Given the description of an element on the screen output the (x, y) to click on. 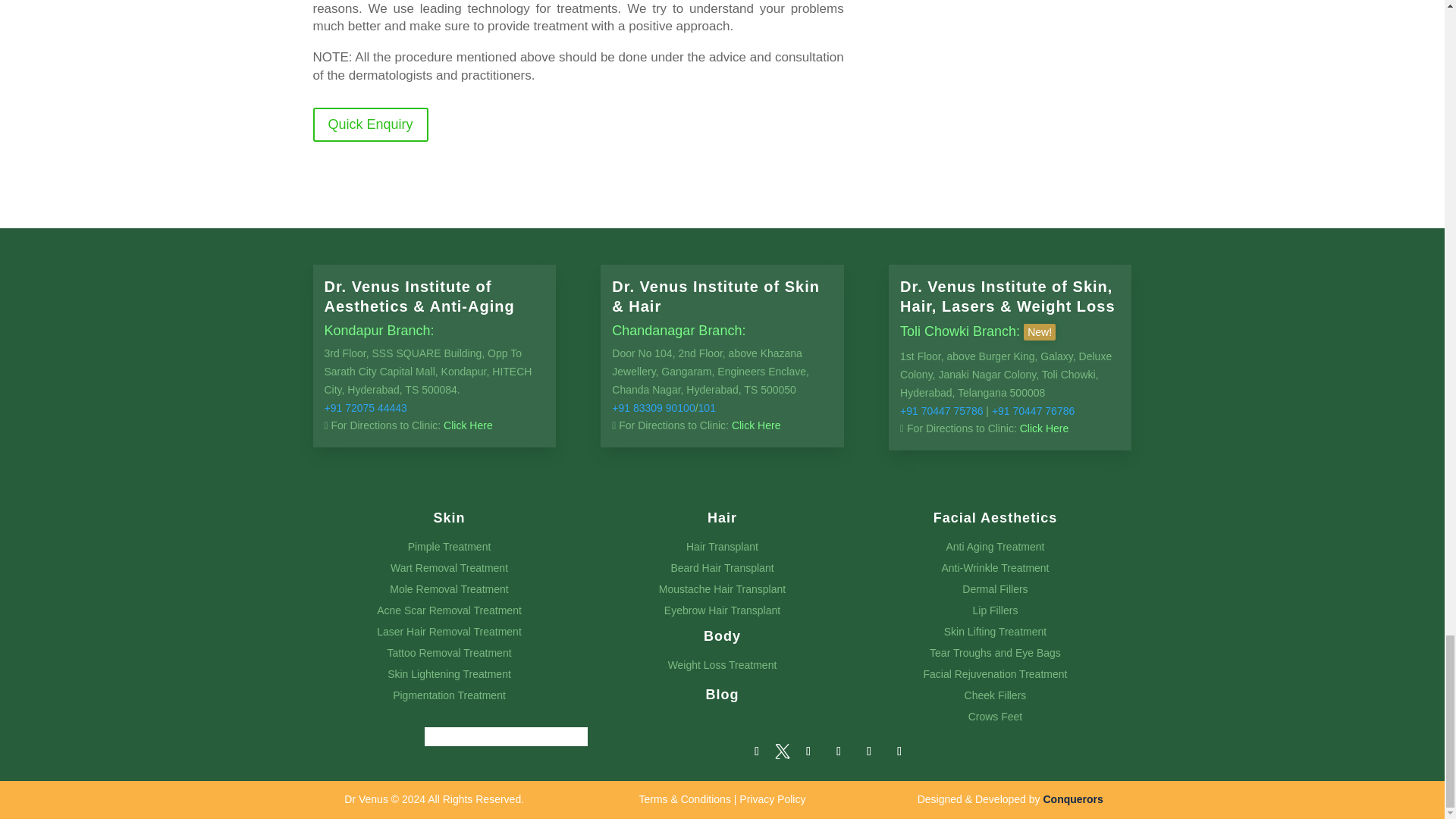
Follow on  (782, 751)
Follow on LinkedIn (838, 751)
Follow on Instagram (868, 751)
Follow on Facebook (756, 751)
Follow on Youtube (898, 751)
Follow on Pinterest (808, 751)
